Given the description of an element on the screen output the (x, y) to click on. 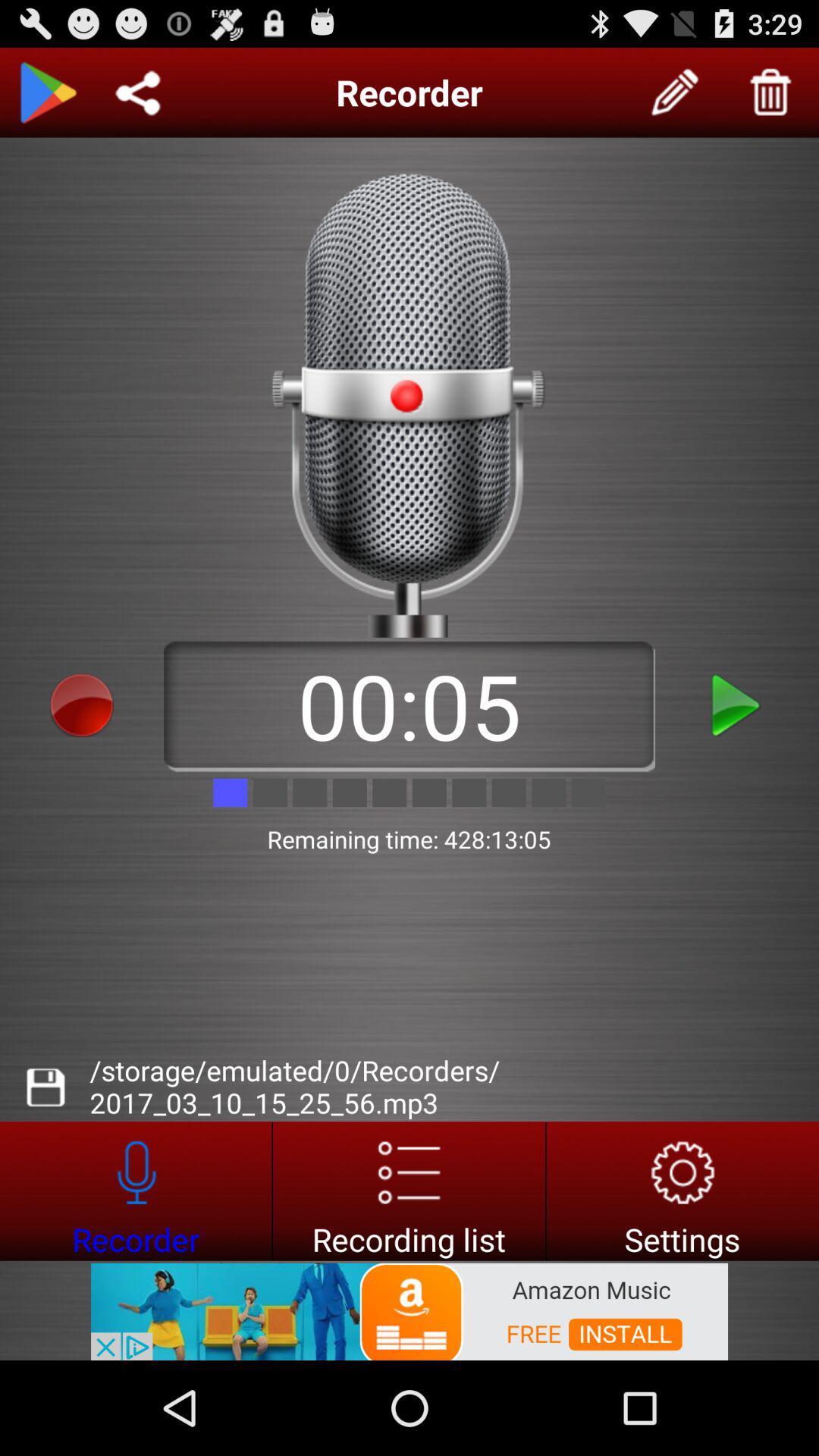
see recording list (409, 1190)
